Given the description of an element on the screen output the (x, y) to click on. 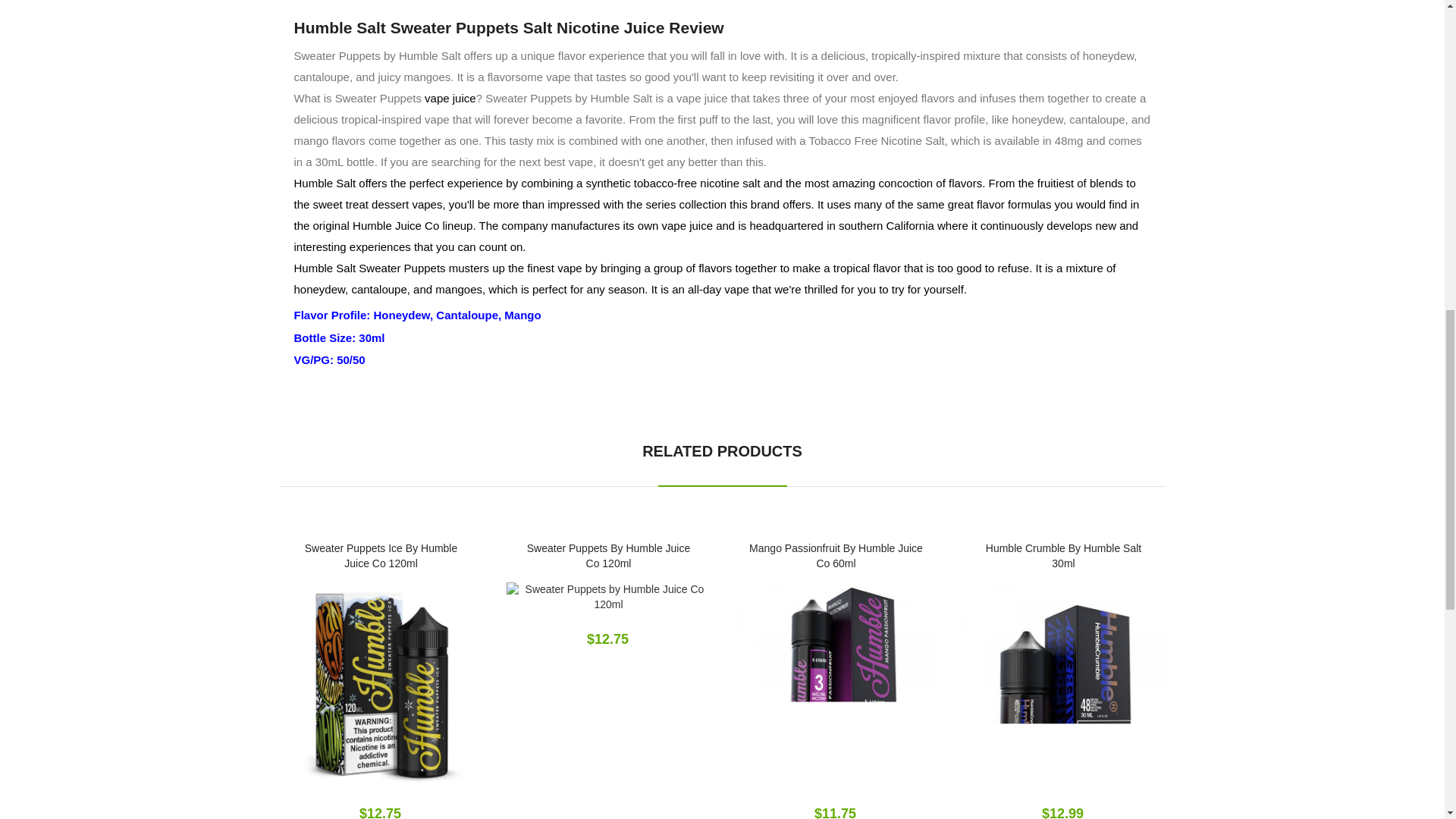
Sweater Puppets by Humble Juice Co 120ml (608, 597)
Sweater Puppets Ice by Humble Juice Co 120ml (381, 684)
